Given the description of an element on the screen output the (x, y) to click on. 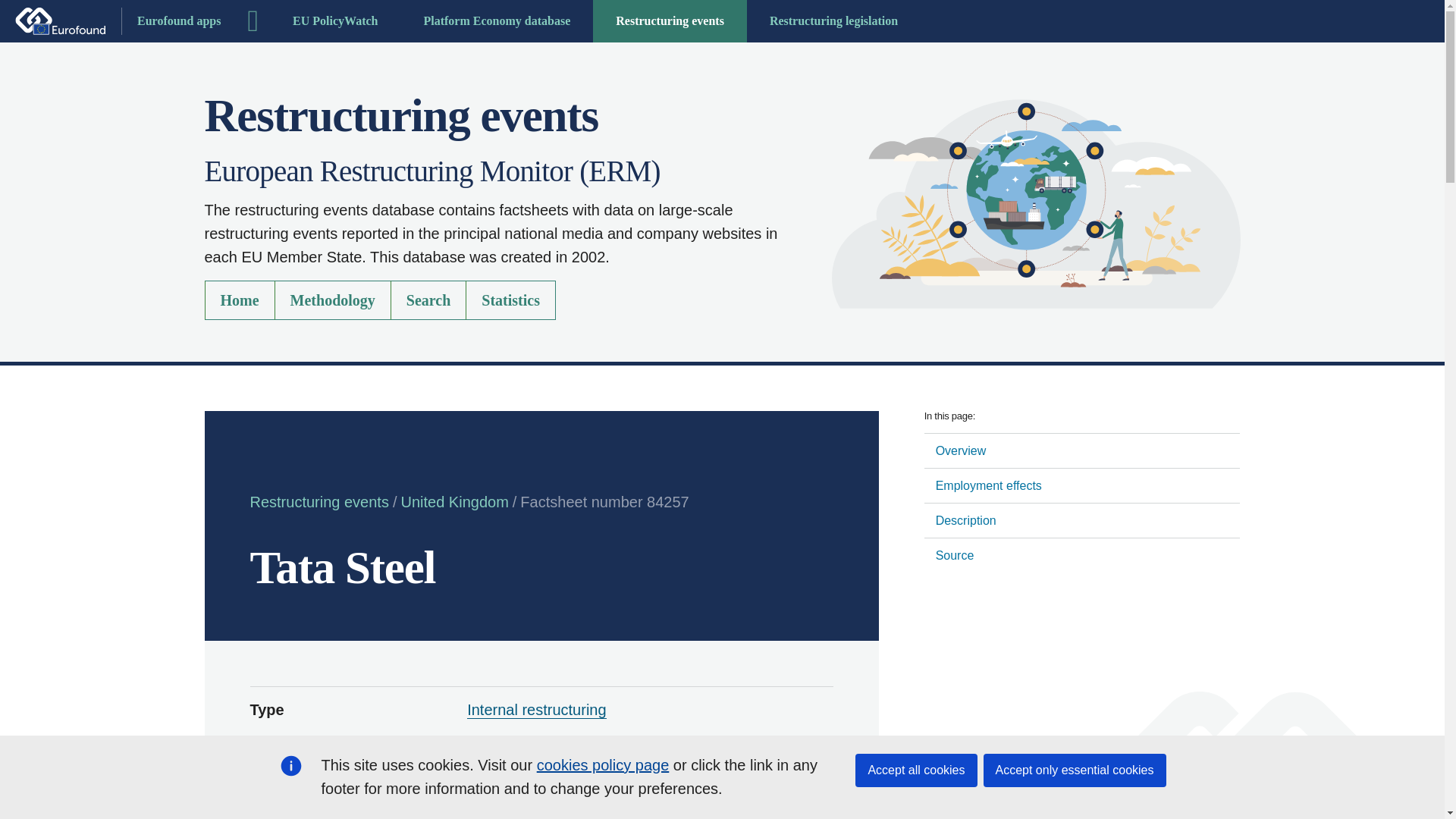
Eurofound apps (117, 21)
Restructuring events (669, 21)
Search (428, 300)
Statistics (510, 300)
cookies policy page (603, 764)
Accept only essential cookies (1074, 770)
Methodology (333, 300)
Internal restructuring (536, 710)
EU PolicyWatch (334, 21)
Home (1035, 202)
Home (240, 300)
United Kingdom (521, 760)
Overview (1082, 450)
Accept all cookies (916, 770)
Restructuring events (319, 501)
